Given the description of an element on the screen output the (x, y) to click on. 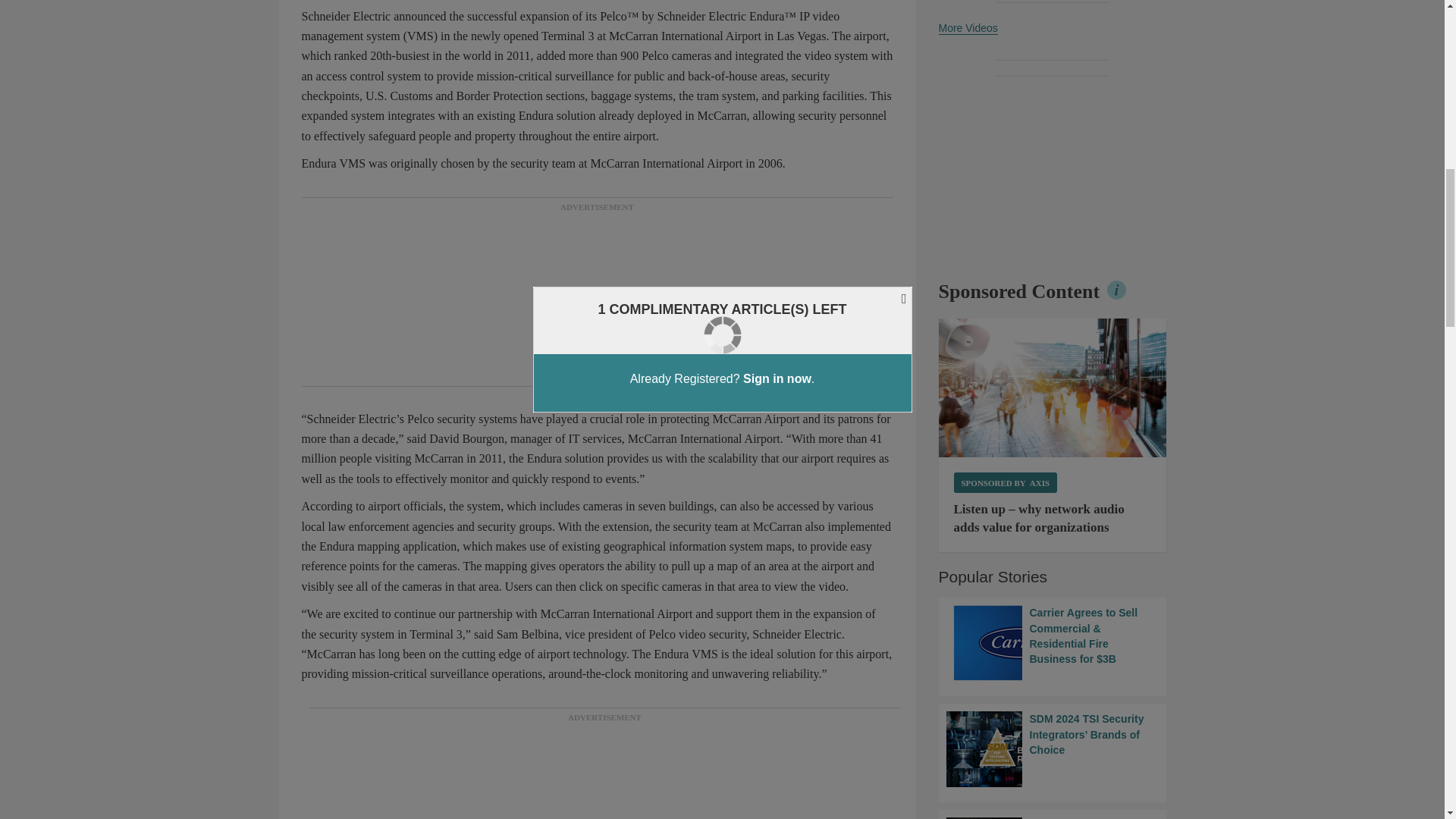
Sponsored by Axis  (1005, 482)
Axis Communications (1052, 387)
